Given the description of an element on the screen output the (x, y) to click on. 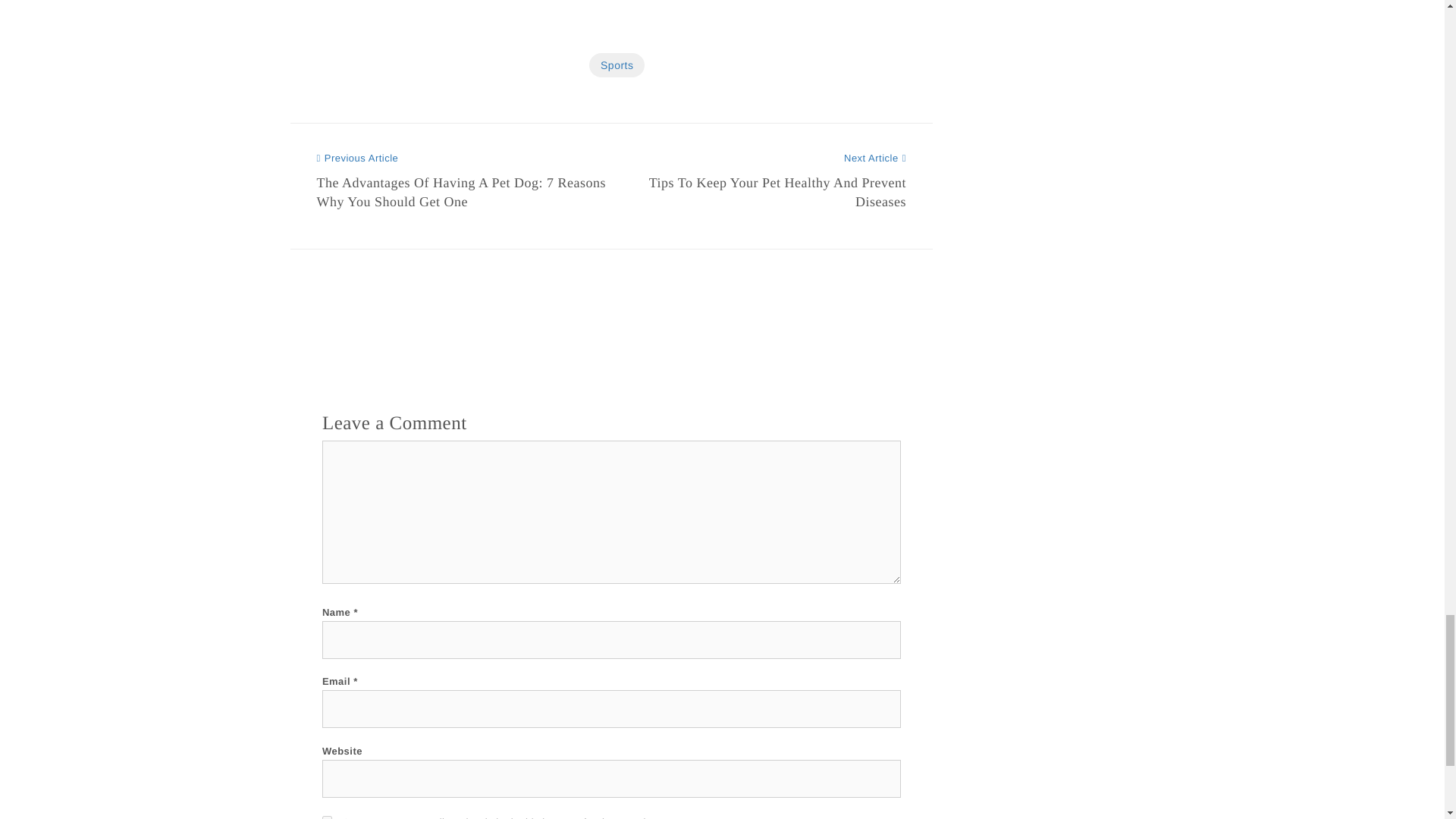
yes (326, 817)
Sports (617, 64)
